Given the description of an element on the screen output the (x, y) to click on. 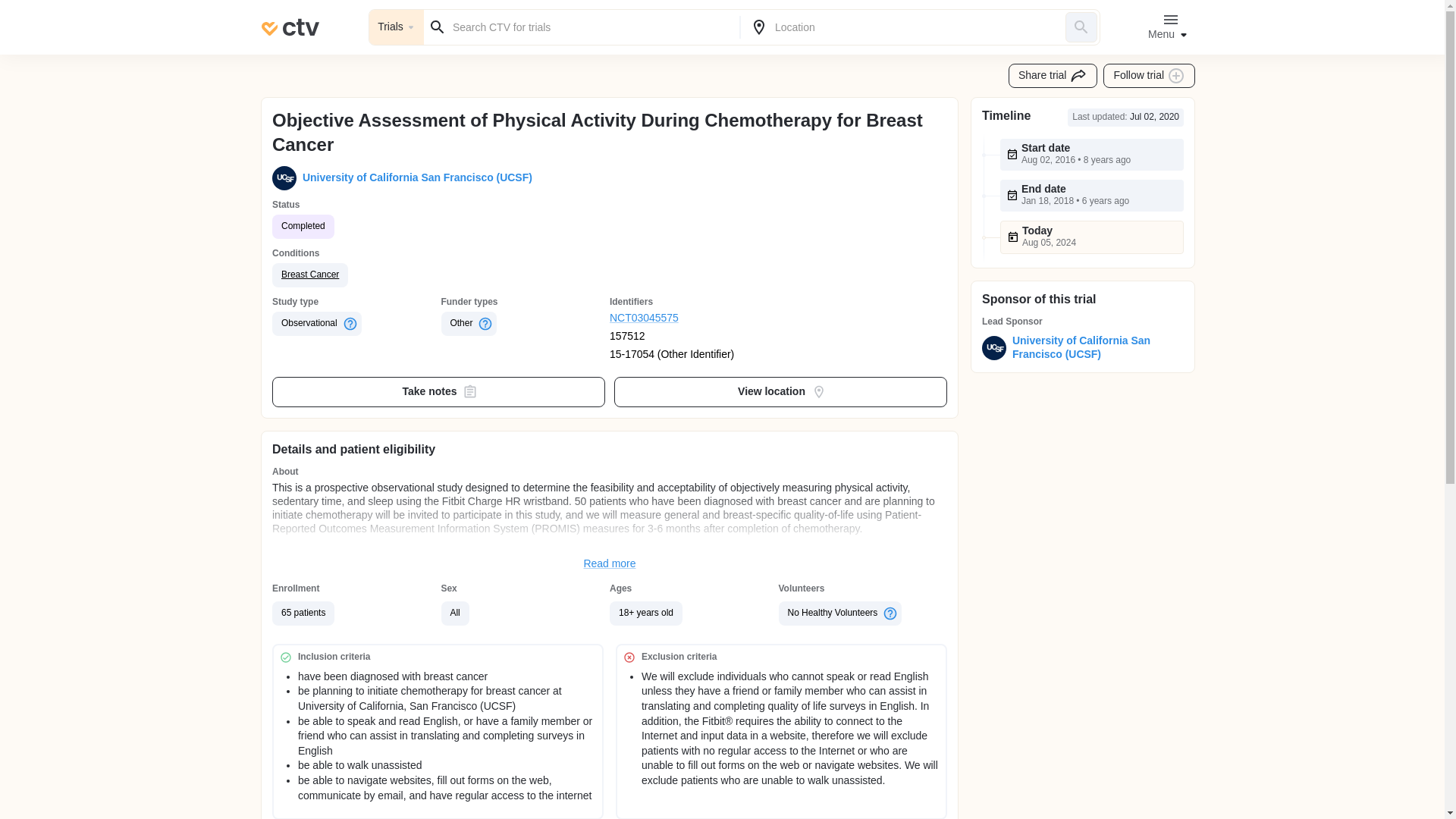
Take notes (438, 391)
Read more (609, 563)
View location (780, 391)
Follow trial (1149, 75)
Trials (396, 27)
Share trial (1053, 75)
NCT03045575 (694, 318)
